Given the description of an element on the screen output the (x, y) to click on. 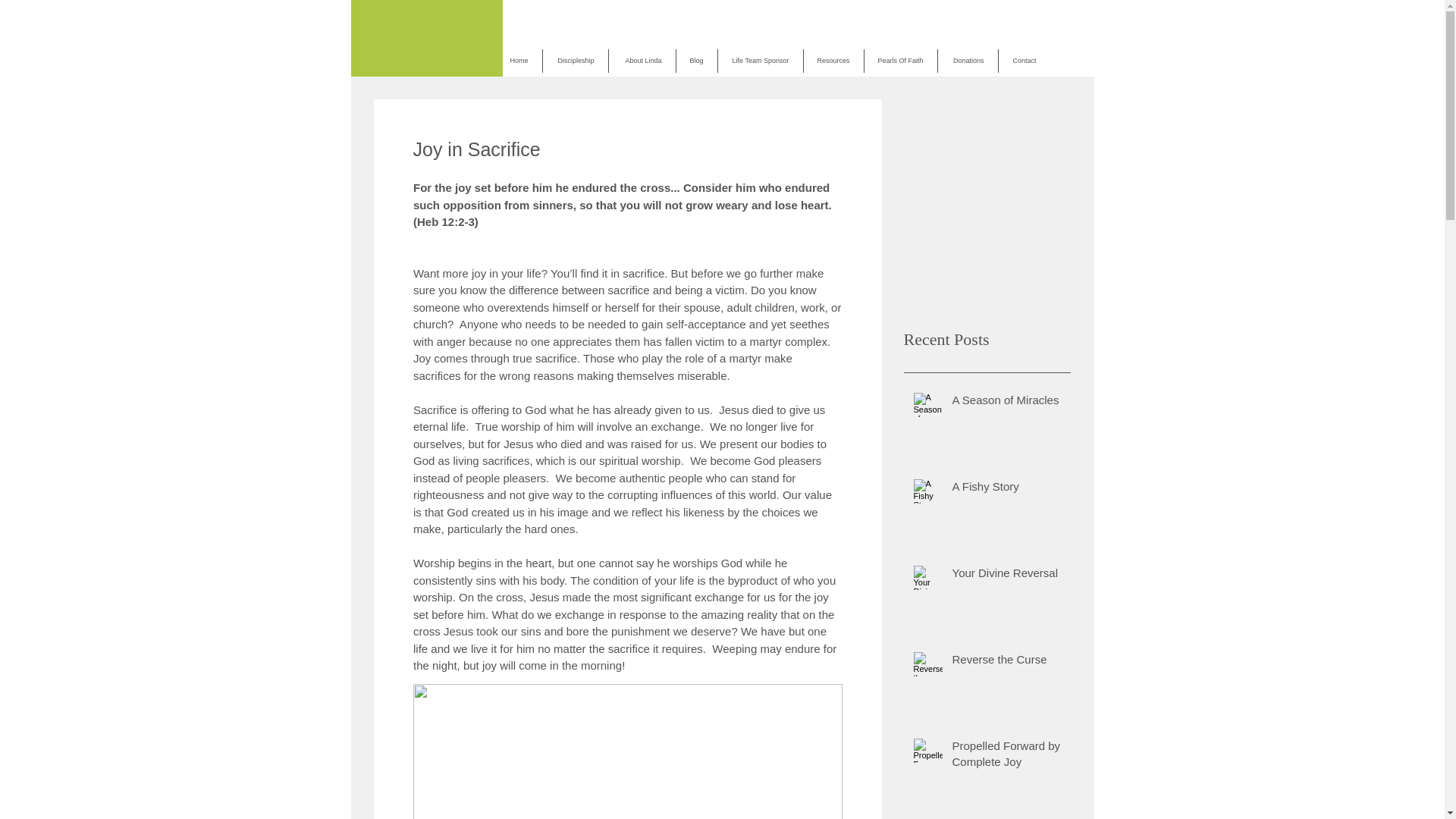
Resources (833, 60)
Blog (697, 60)
Reverse the Curse (1006, 662)
A Fishy Story (1006, 489)
Discipleship (575, 60)
Life Team Sponsor (759, 60)
Home (518, 60)
A Season of Miracles (1006, 403)
Your Divine Reversal (1006, 576)
Donations (967, 60)
